Given the description of an element on the screen output the (x, y) to click on. 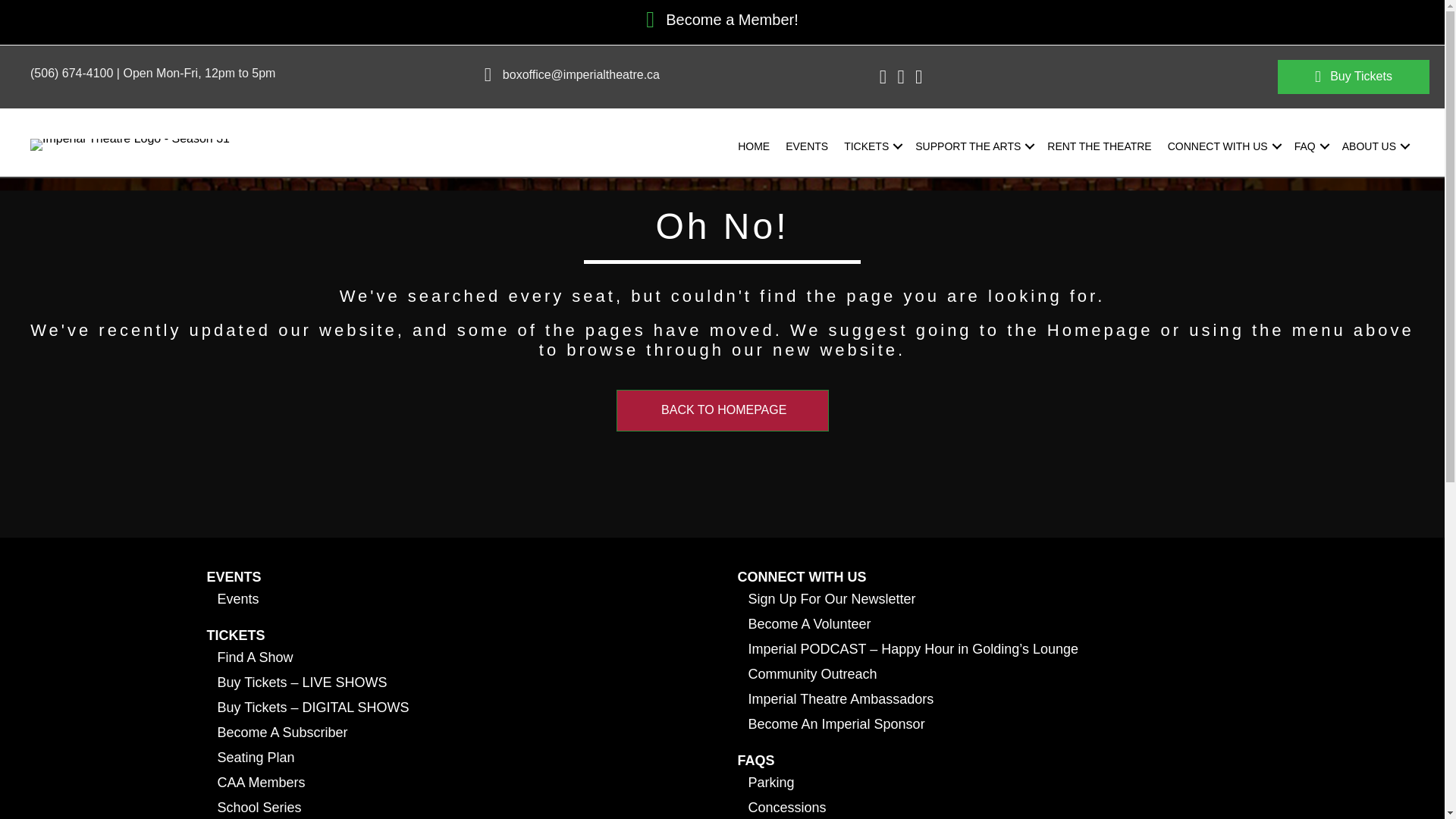
Become a Member! (731, 20)
Imperial-Thetare-Logo-S31 (130, 144)
RENT THE THEATRE (1098, 145)
SUPPORT THE ARTS (973, 145)
TICKETS (871, 145)
EVENTS (806, 145)
Buy Tickets (1353, 76)
HOME (753, 145)
CONNECT WITH US (1222, 145)
FAQ (1310, 145)
